Given the description of an element on the screen output the (x, y) to click on. 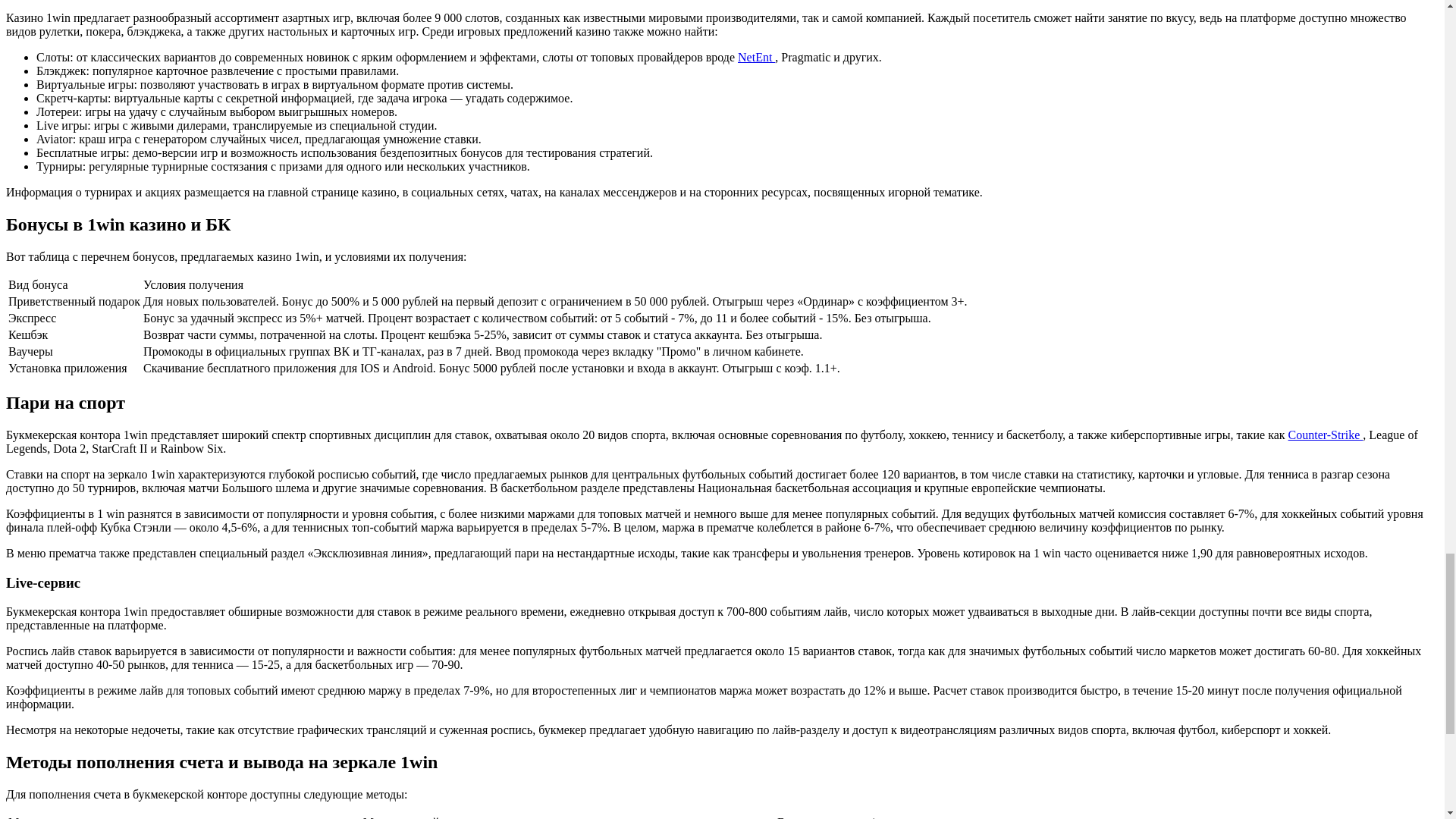
NetEnt (756, 56)
Counter-Strike (1325, 434)
